Given the description of an element on the screen output the (x, y) to click on. 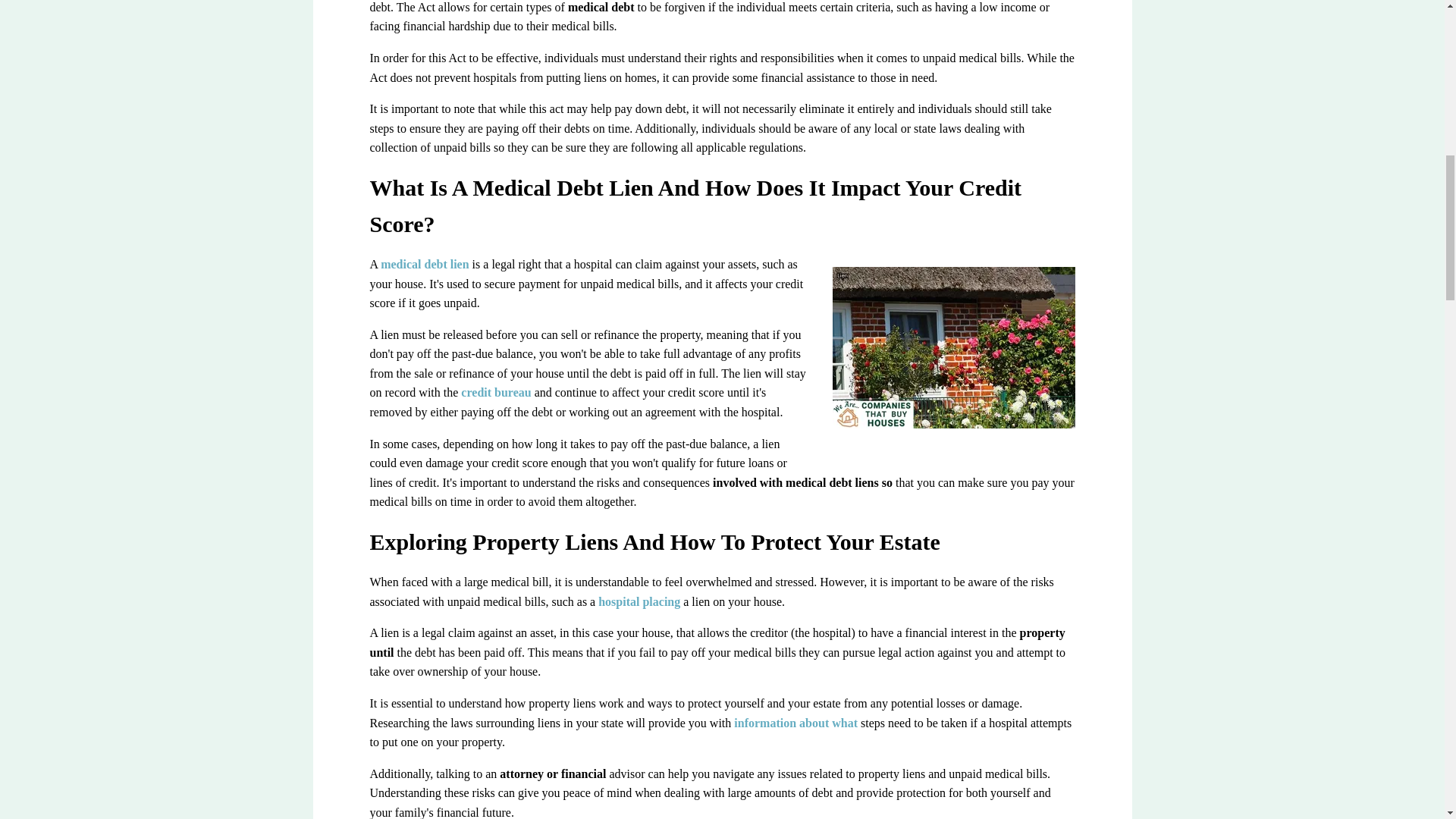
information about what (795, 722)
medical debt lien (424, 264)
credit bureau (496, 391)
hospital placing (638, 601)
